Given the description of an element on the screen output the (x, y) to click on. 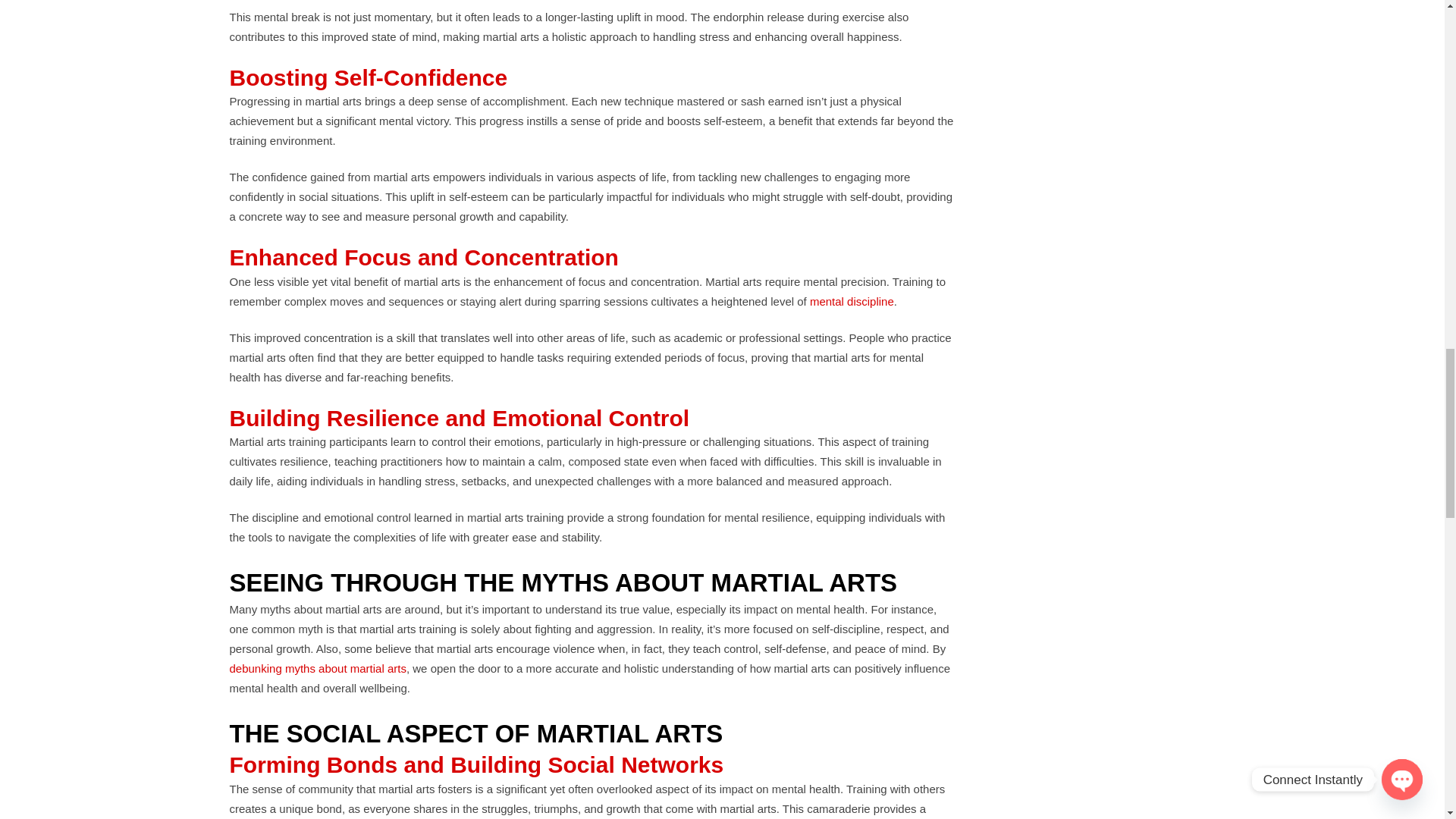
mental discipline (851, 300)
debunking myths about martial arts (317, 667)
